Given the description of an element on the screen output the (x, y) to click on. 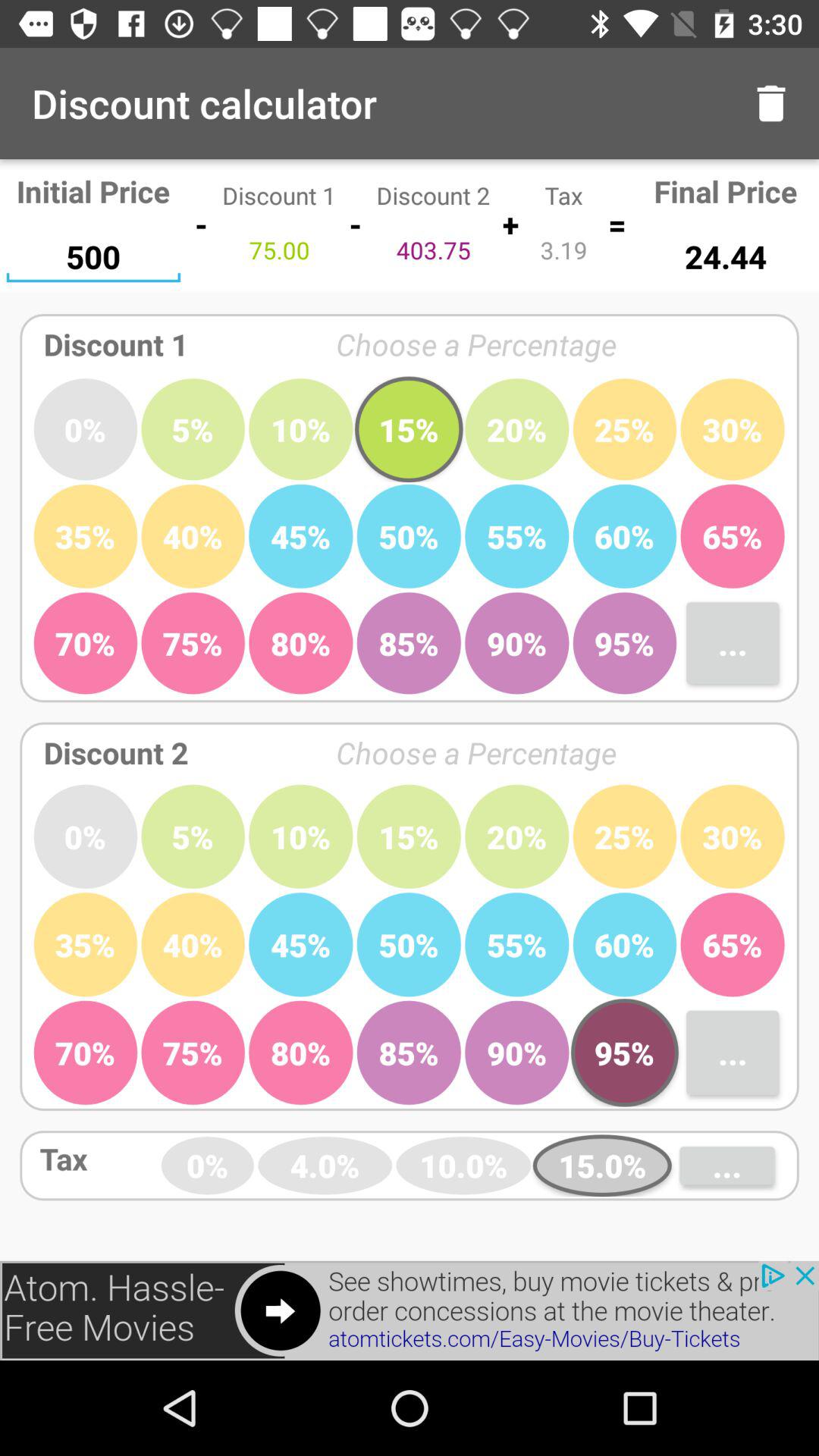
advertising (409, 1310)
